Given the description of an element on the screen output the (x, y) to click on. 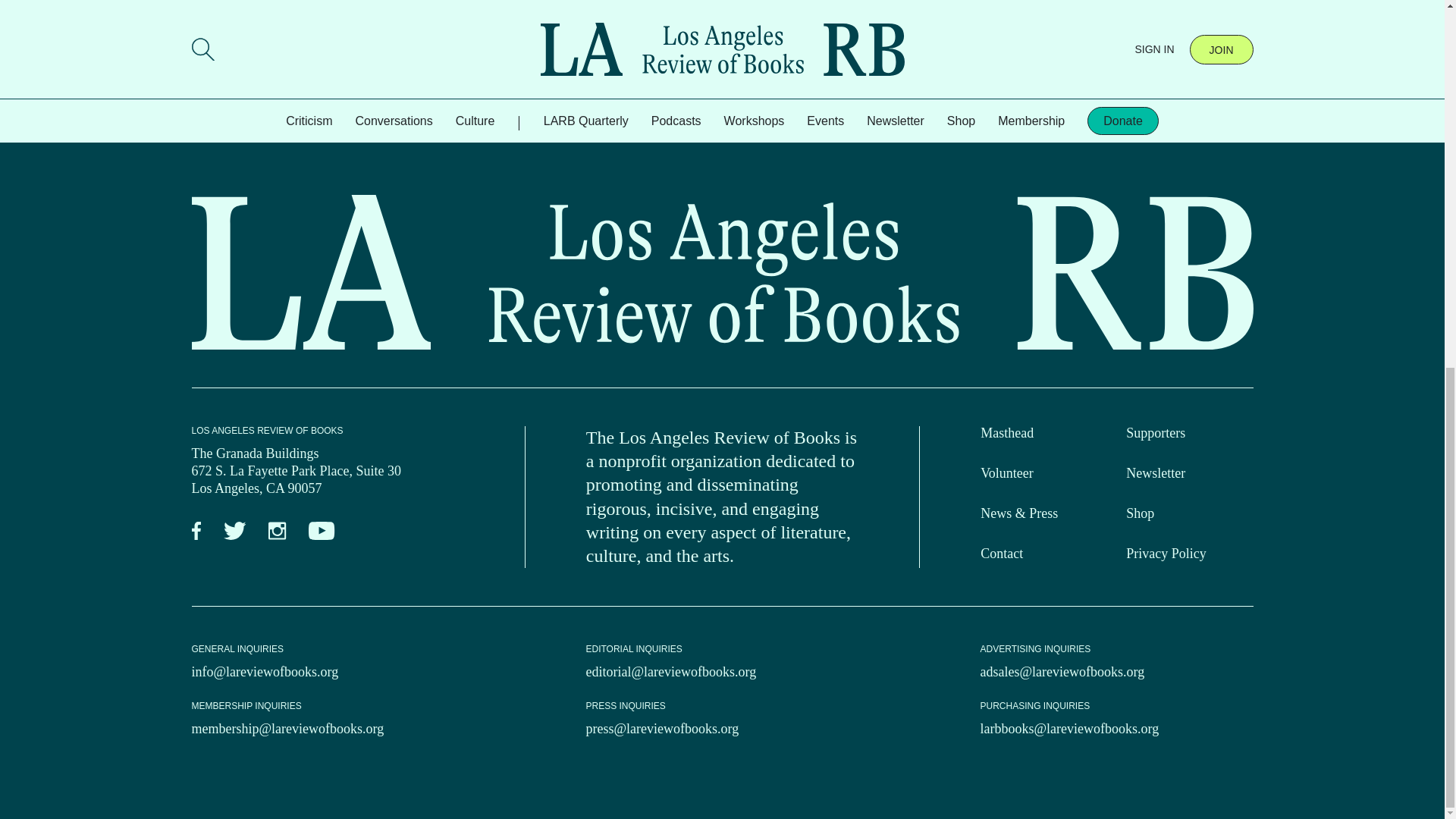
YouTube (321, 531)
Contact (1001, 553)
POLITICS (272, 103)
Newsletter (1155, 473)
POETRY (214, 103)
Supporters (1155, 432)
MAX RITVO (215, 78)
Privacy Policy (1166, 553)
Shop (1139, 513)
Masthead (1006, 432)
Volunteer (1006, 473)
